Given the description of an element on the screen output the (x, y) to click on. 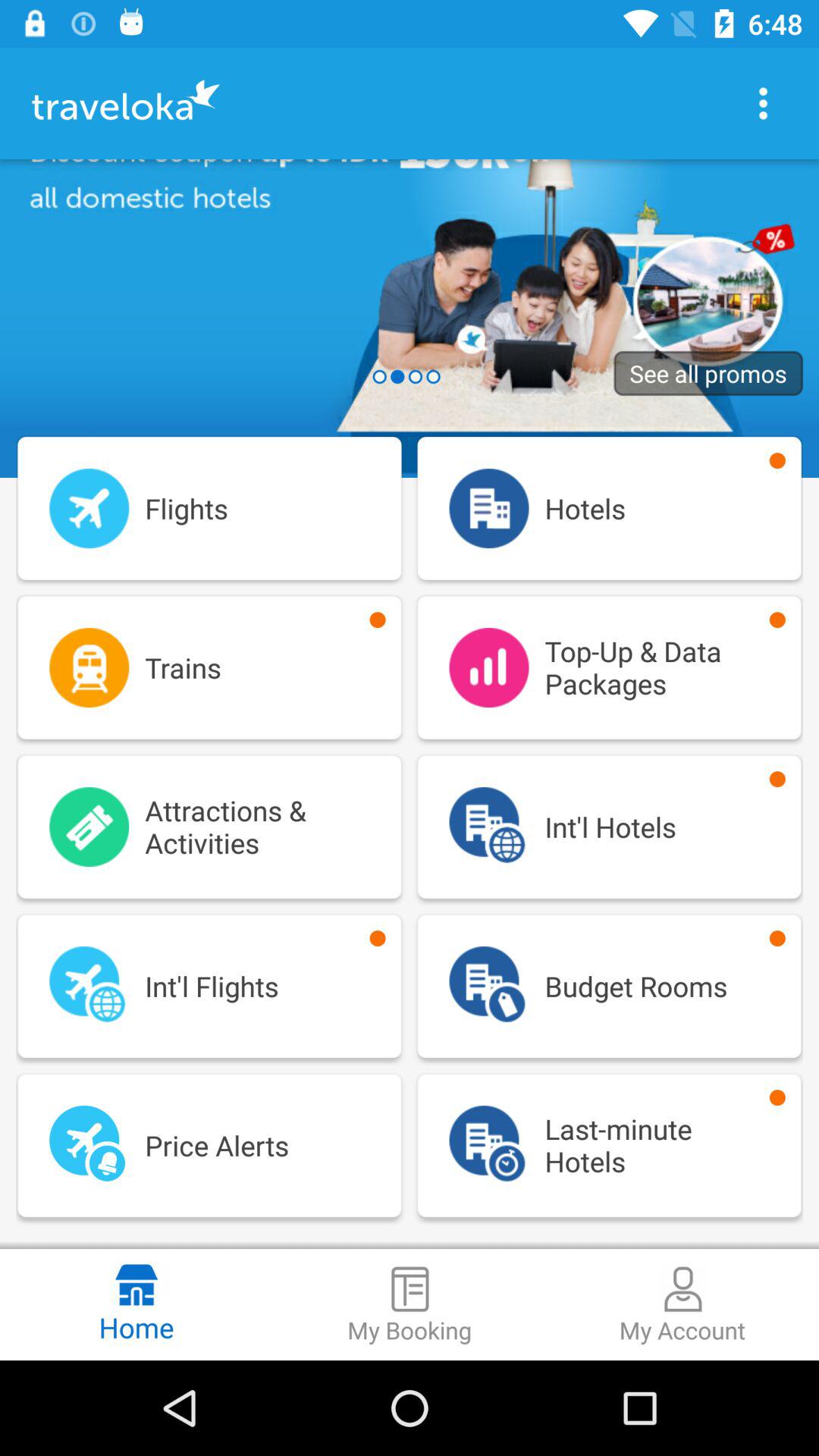
launch the see all promos (708, 373)
